Given the description of an element on the screen output the (x, y) to click on. 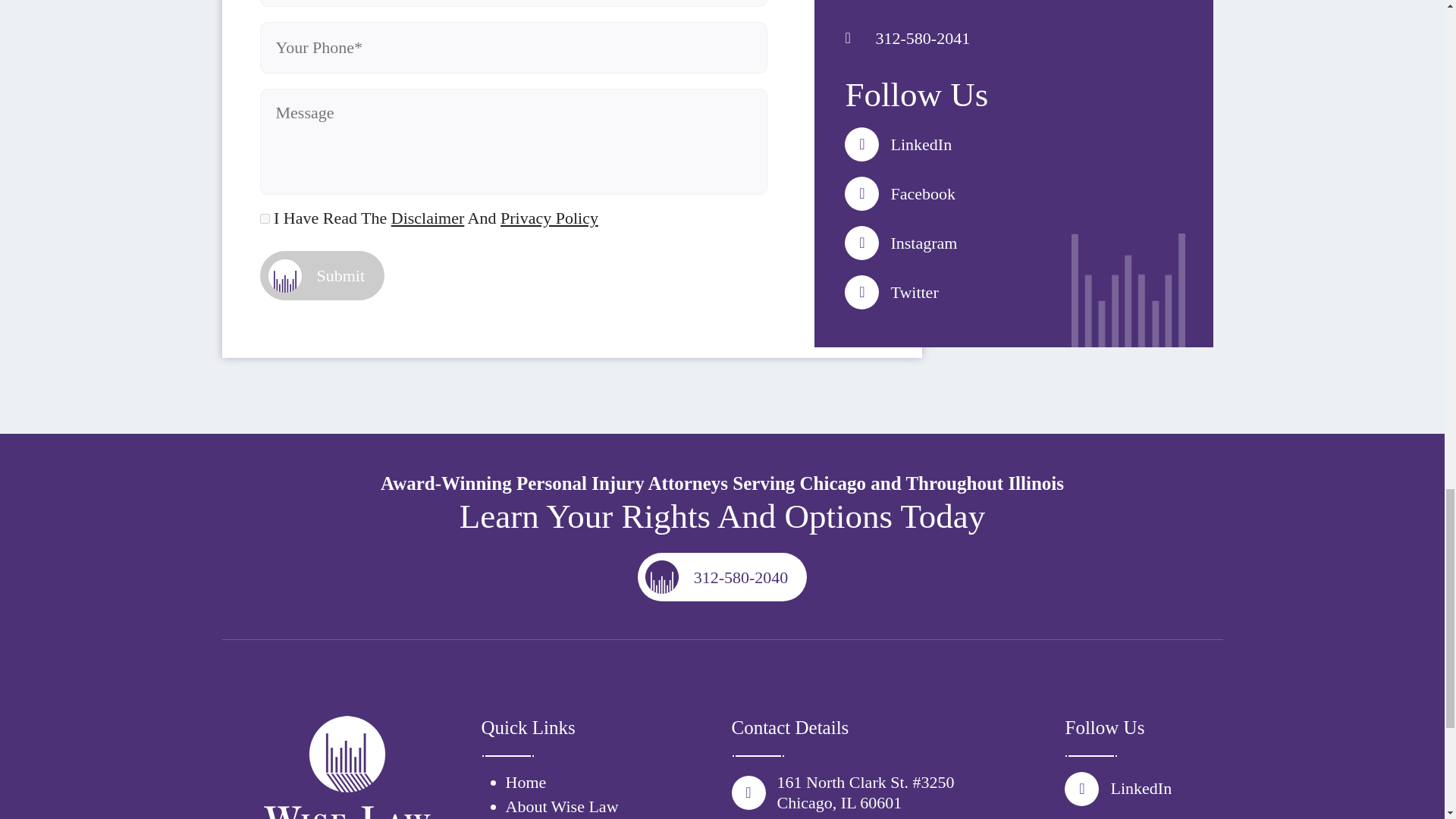
Privacy Policy (549, 217)
Submit (321, 275)
1 (264, 218)
Disclaimer (427, 217)
